Given the description of an element on the screen output the (x, y) to click on. 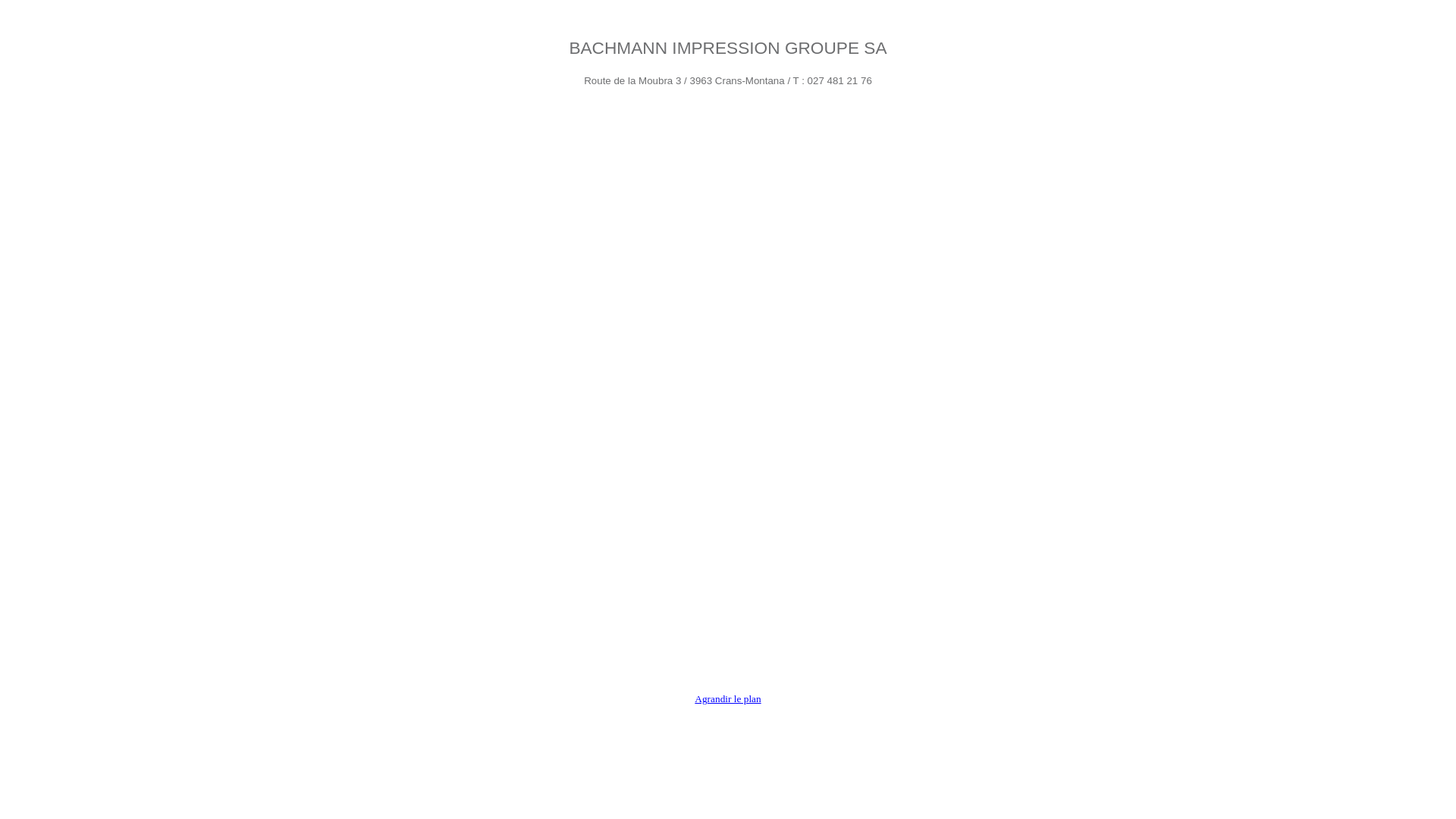
Agrandir le plan Element type: text (727, 698)
